Given the description of an element on the screen output the (x, y) to click on. 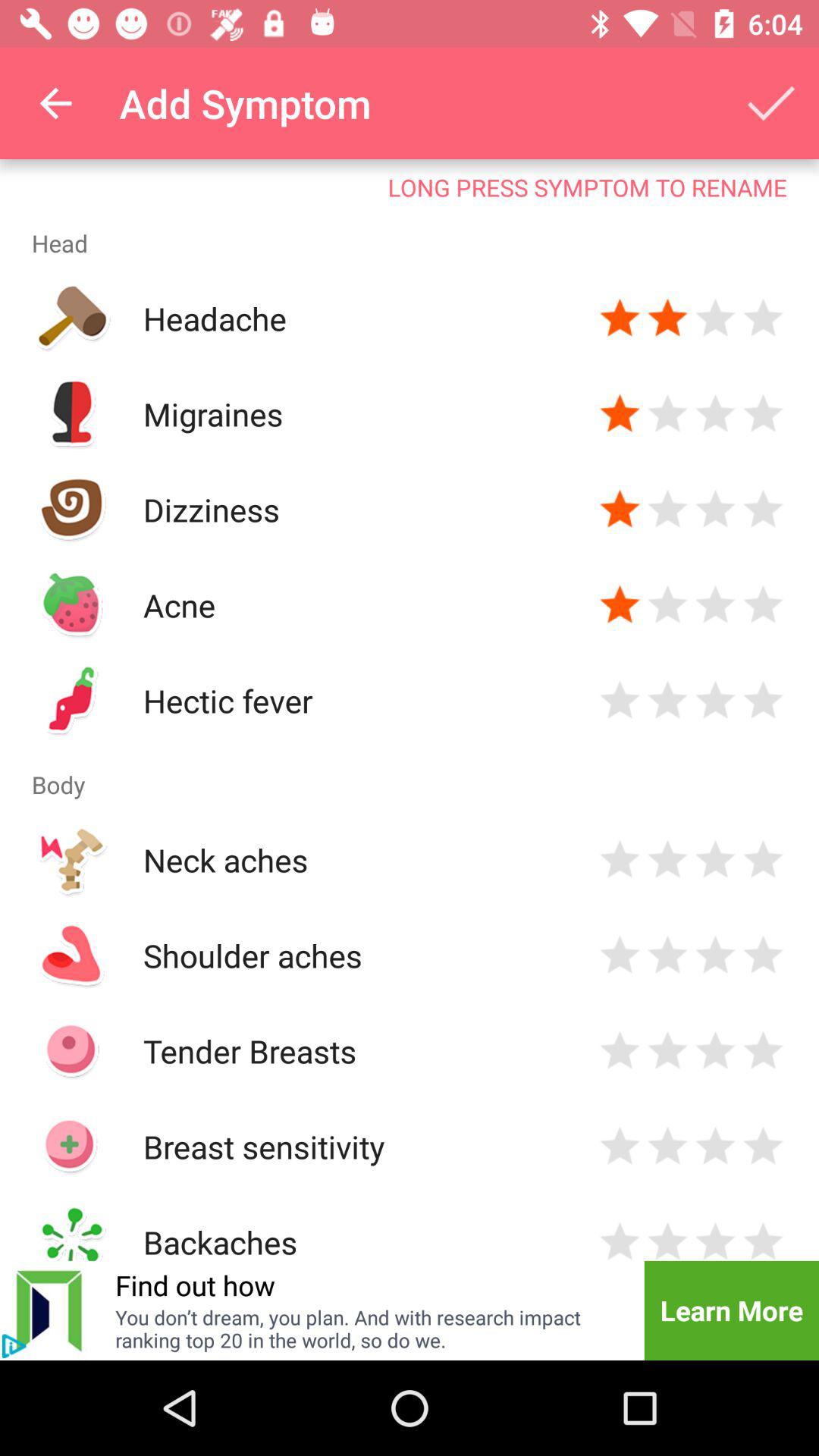
star rate symptom (619, 605)
